Given the description of an element on the screen output the (x, y) to click on. 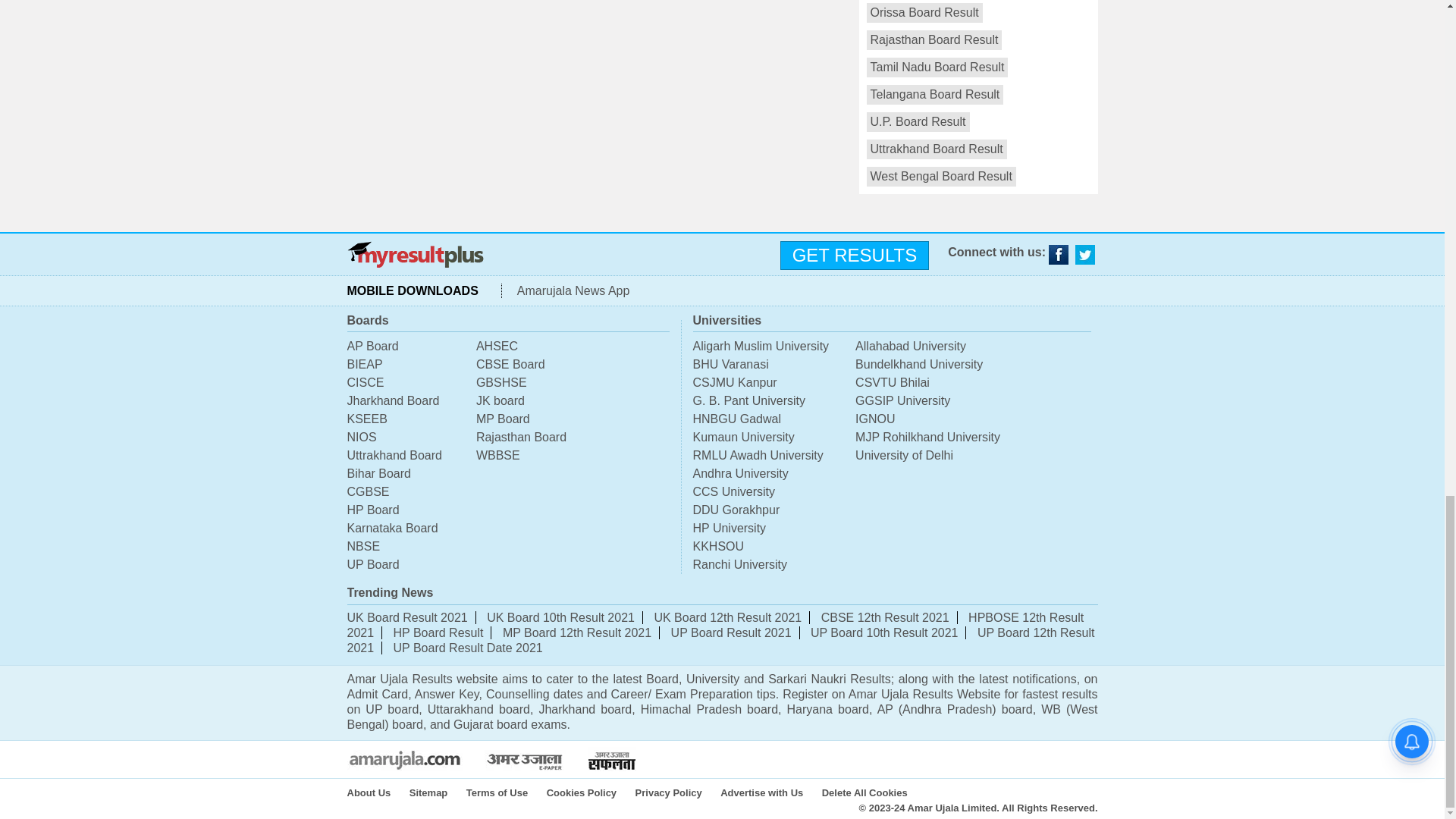
Delete All Cookies (872, 792)
HPBOSE 12th Result 2021 (715, 624)
UP Board 12th Result 2021 (720, 640)
UK Board Result 2021 (407, 617)
UK Board 10th Result 2021 (560, 617)
UK Board 12th Result 2021 (727, 617)
UP Board Result 2021 (731, 632)
CBSE 12th Result 2021 (885, 617)
HP Board Result (438, 632)
UP Board 10th Result 2021 (884, 632)
